Given the description of an element on the screen output the (x, y) to click on. 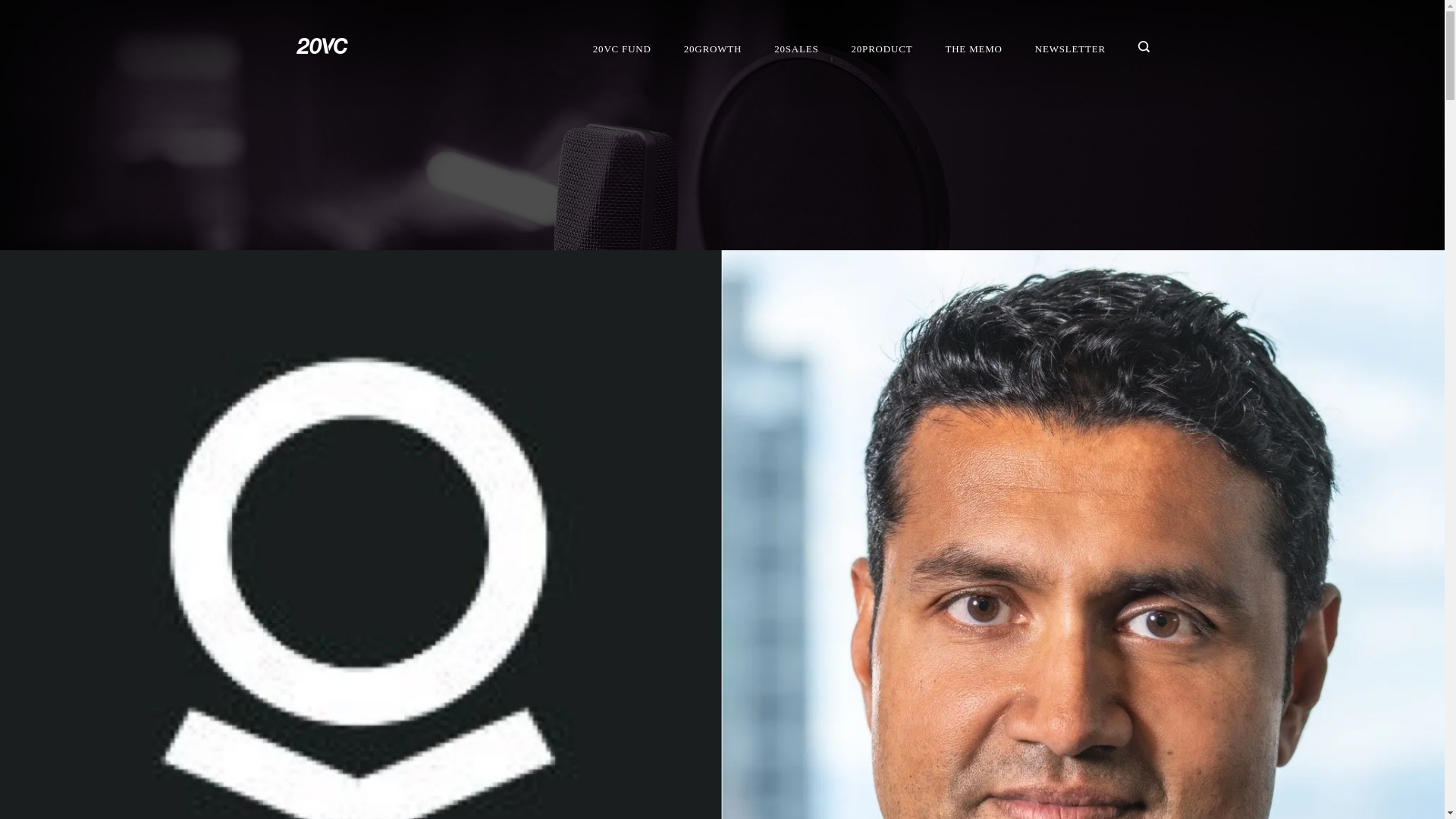
20SALES (797, 48)
20PRODUCT (881, 48)
NEWSLETTER (1069, 48)
20GROWTH (711, 48)
THE MEMO (973, 48)
20VC FUND (622, 48)
